Given the description of an element on the screen output the (x, y) to click on. 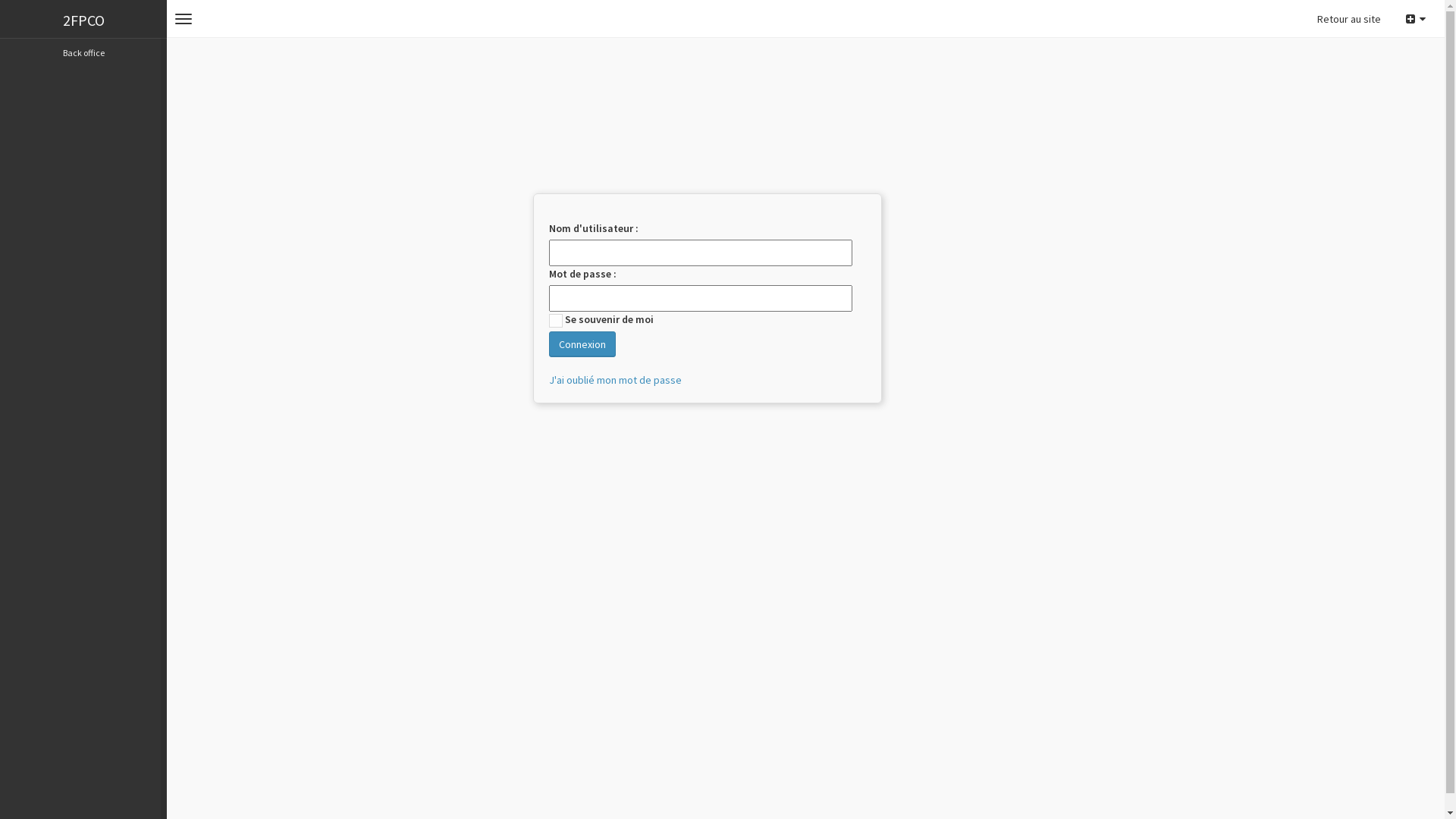
Toggle navigation Element type: text (183, 18)
Connexion Element type: text (582, 344)
Retour au site Element type: text (1348, 18)
2FPCO Element type: text (83, 18)
Back office Element type: text (82, 52)
